Given the description of an element on the screen output the (x, y) to click on. 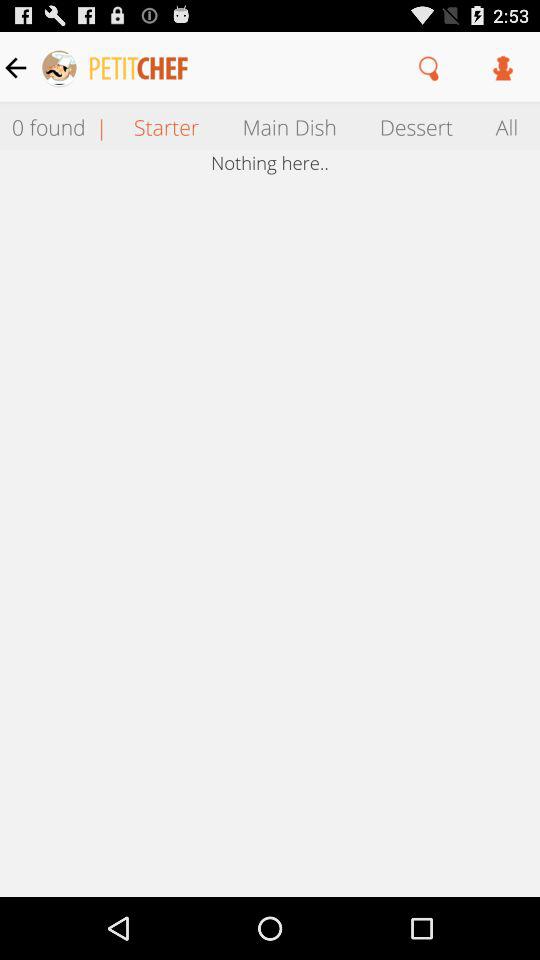
open the item above the nothing here.. icon (166, 126)
